Given the description of an element on the screen output the (x, y) to click on. 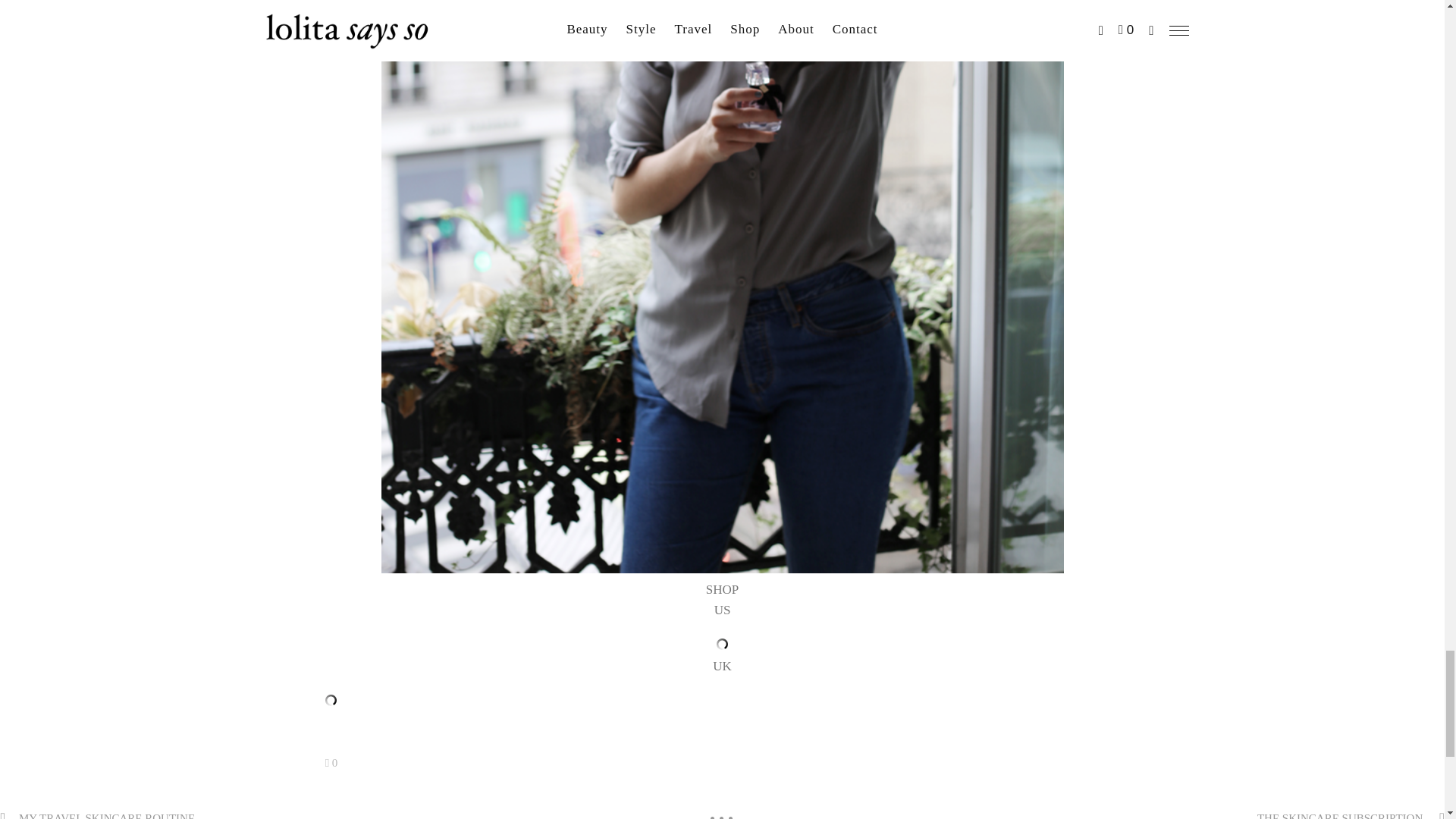
MY TRAVEL SKINCARE ROUTINE. (108, 815)
THE SKINCARE SUBSCRIPTION. (1341, 815)
0 (330, 762)
Like (330, 762)
